Given the description of an element on the screen output the (x, y) to click on. 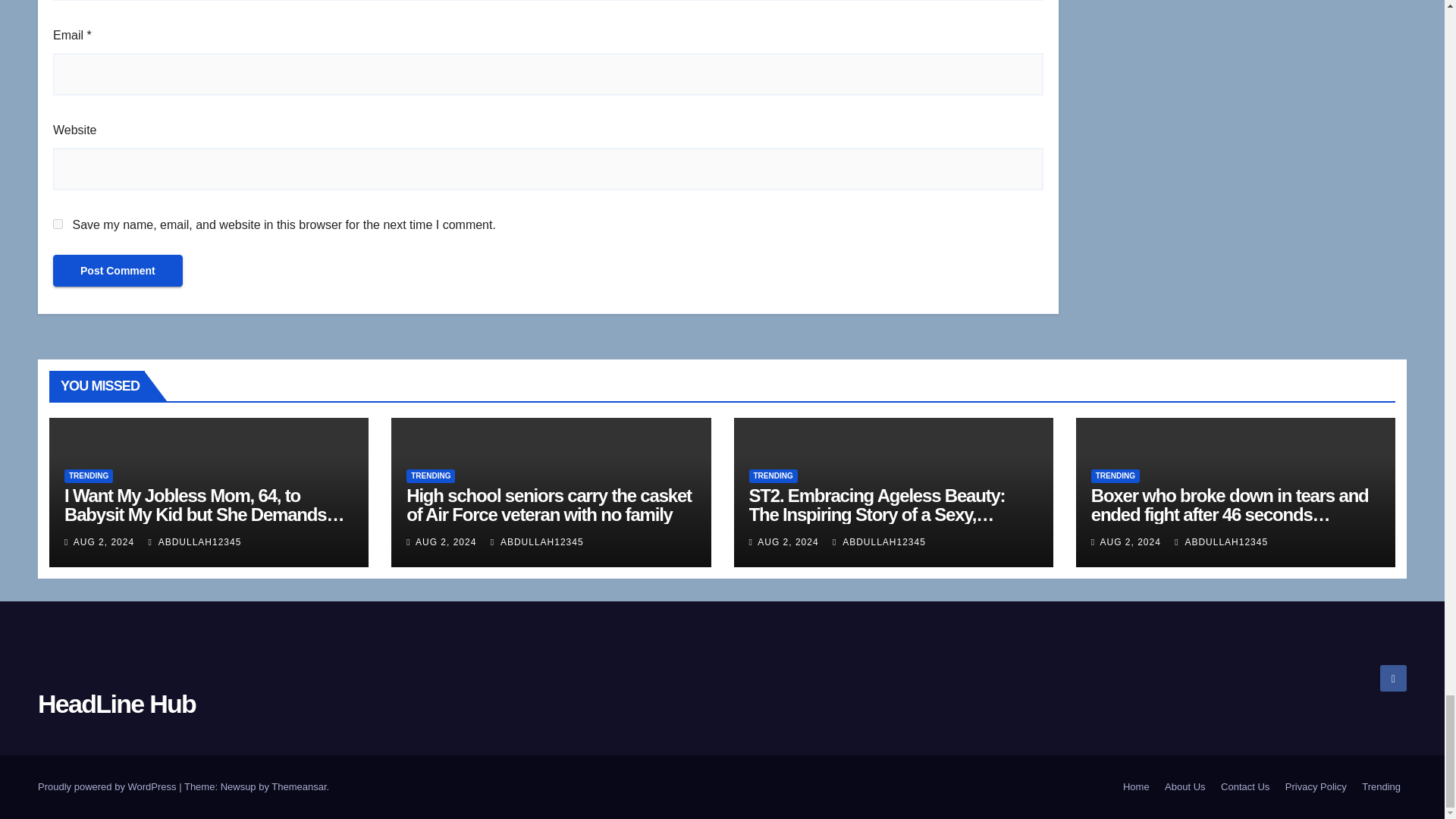
Post Comment (117, 270)
Home (1136, 786)
About Us (1184, 786)
Contact Us (1244, 786)
yes (57, 224)
